Given the description of an element on the screen output the (x, y) to click on. 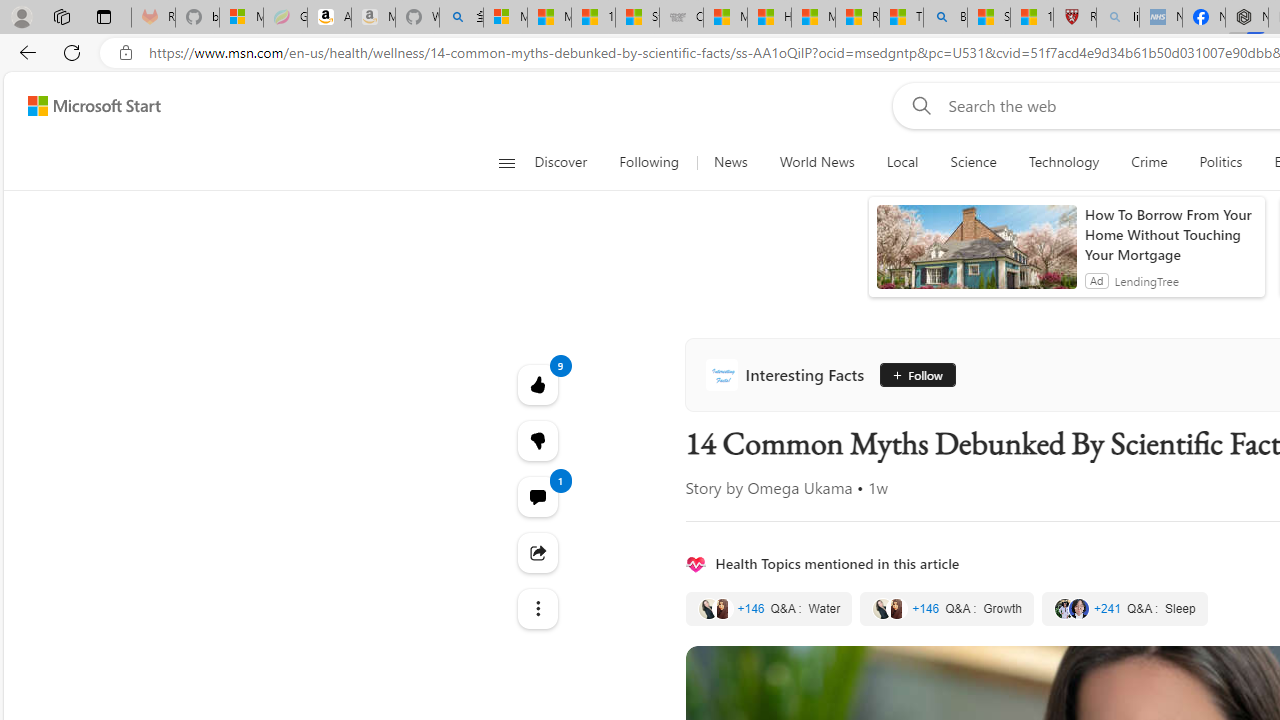
World News (817, 162)
World News (816, 162)
Class: button-glyph (505, 162)
Share this story (537, 552)
Local (902, 162)
How I Got Rid of Microsoft Edge's Unnecessary Features (769, 17)
Crime (1149, 162)
9 Like (537, 384)
12 Popular Science Lies that Must be Corrected (1032, 17)
Recipes - MSN (857, 17)
Class: quote-thumbnail (1078, 608)
